Given the description of an element on the screen output the (x, y) to click on. 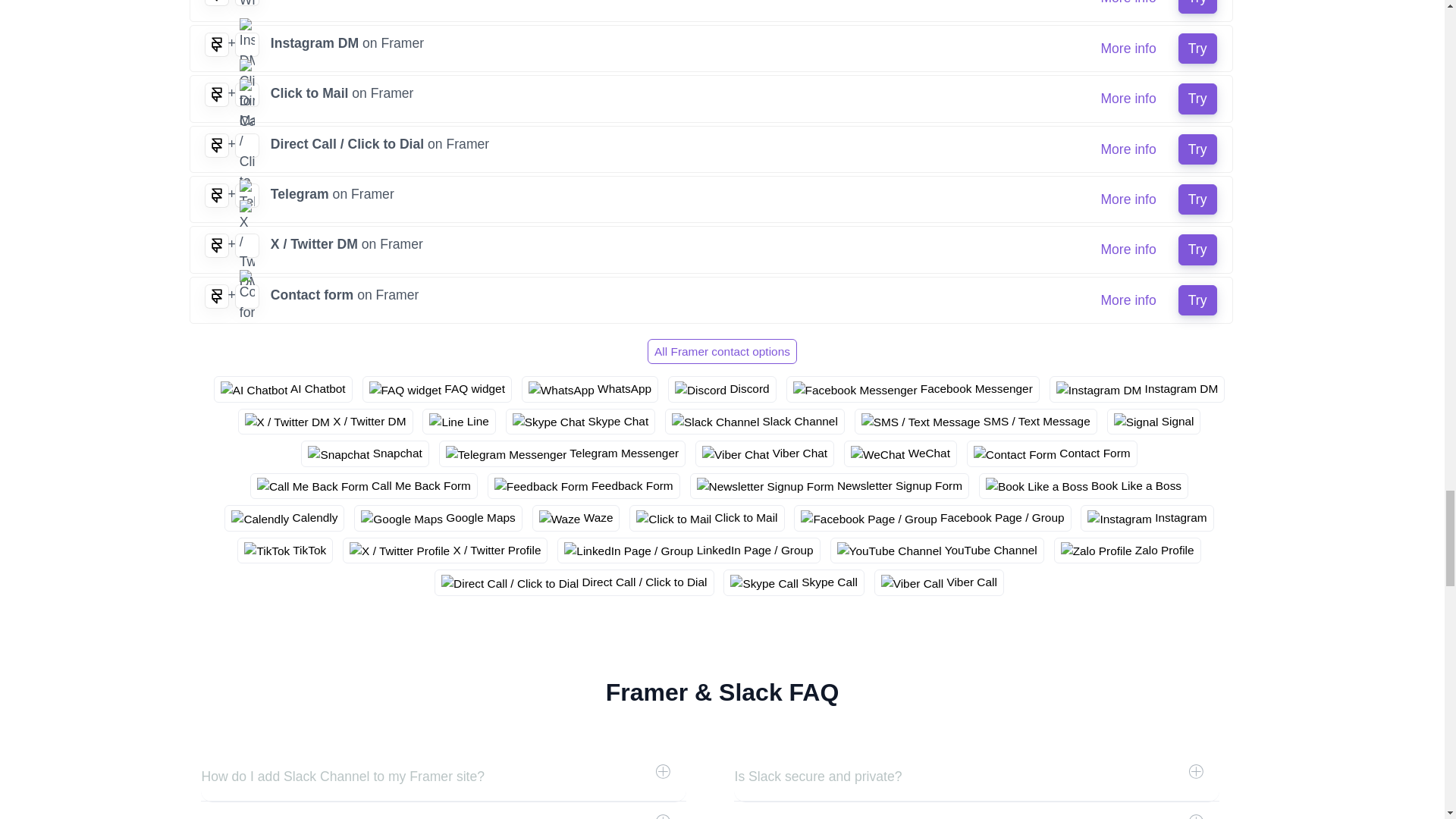
More info (1128, 6)
More info (1128, 98)
Try (1197, 98)
Try (1197, 48)
More info (1128, 149)
More info (1128, 48)
Try (1197, 149)
Try (1197, 6)
